Given the description of an element on the screen output the (x, y) to click on. 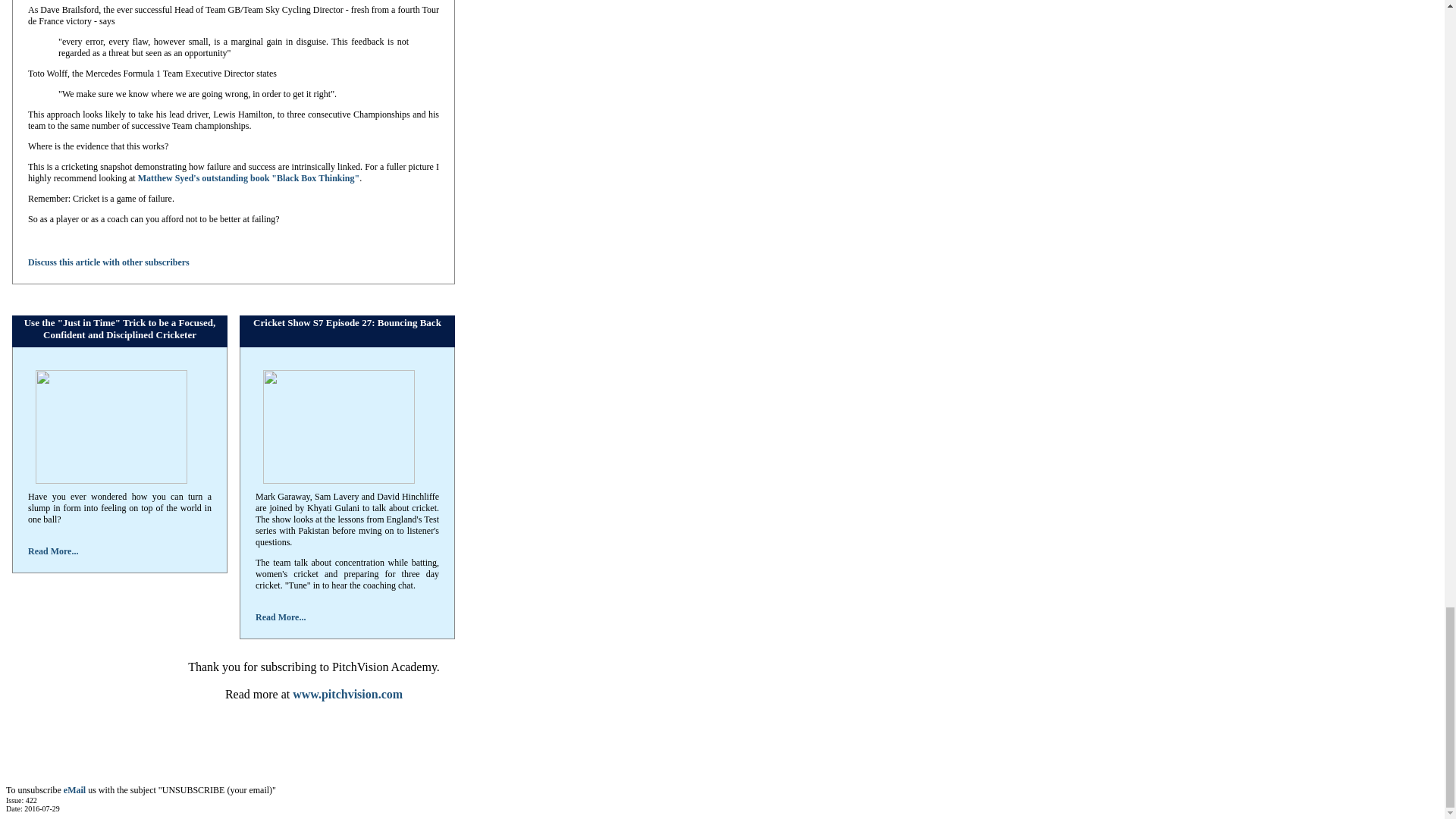
Matthew Syed's outstanding book "Black Box Thinking" (248, 177)
eMail (74, 788)
Read More... (280, 615)
Discuss this article with other subscribers (108, 261)
www.pitchvision.com (347, 693)
Read More... (52, 551)
